Given the description of an element on the screen output the (x, y) to click on. 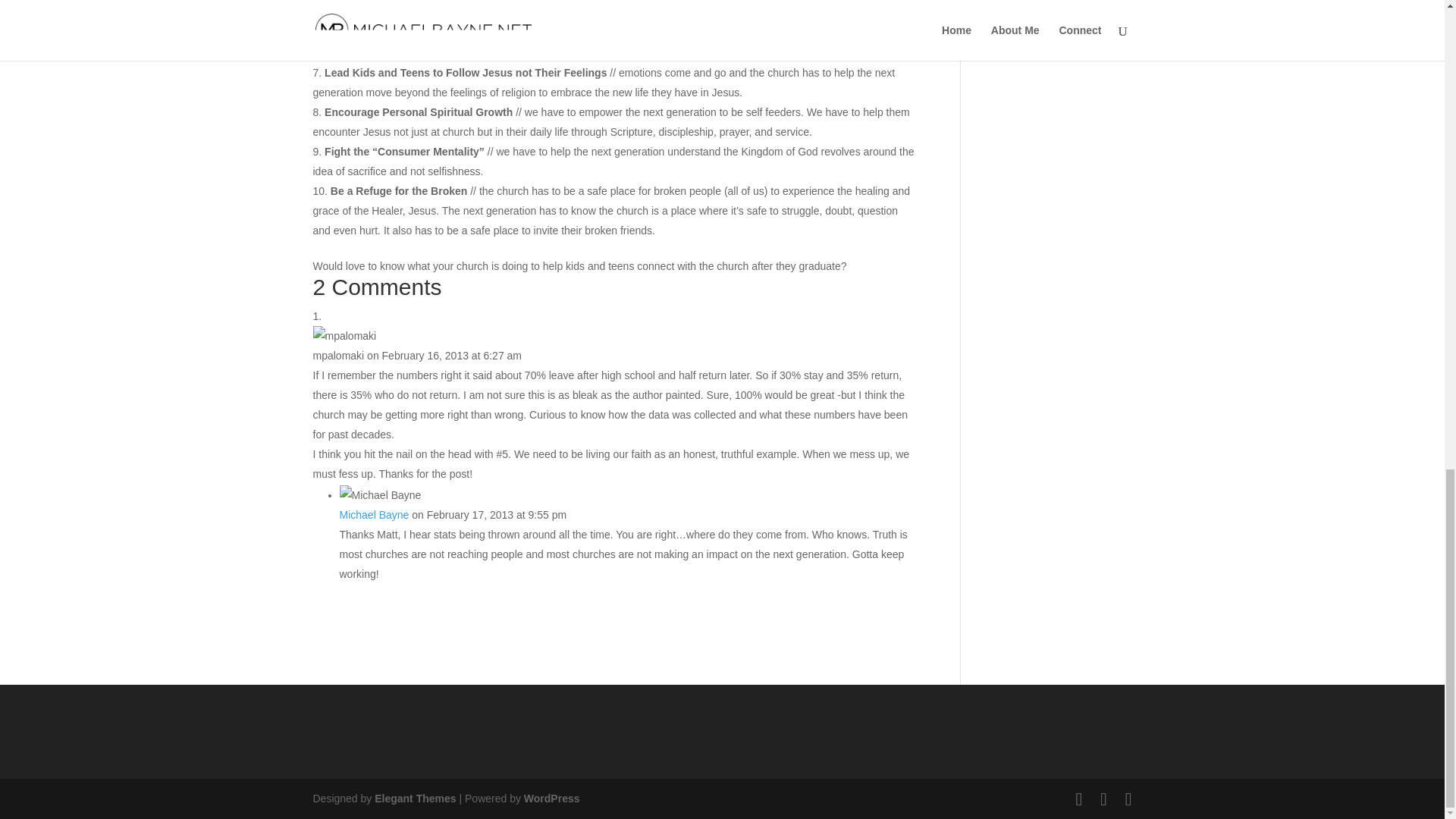
Elegant Themes (414, 798)
Michael Bayne (374, 514)
Premium WordPress Themes (414, 798)
WordPress (551, 798)
